Given the description of an element on the screen output the (x, y) to click on. 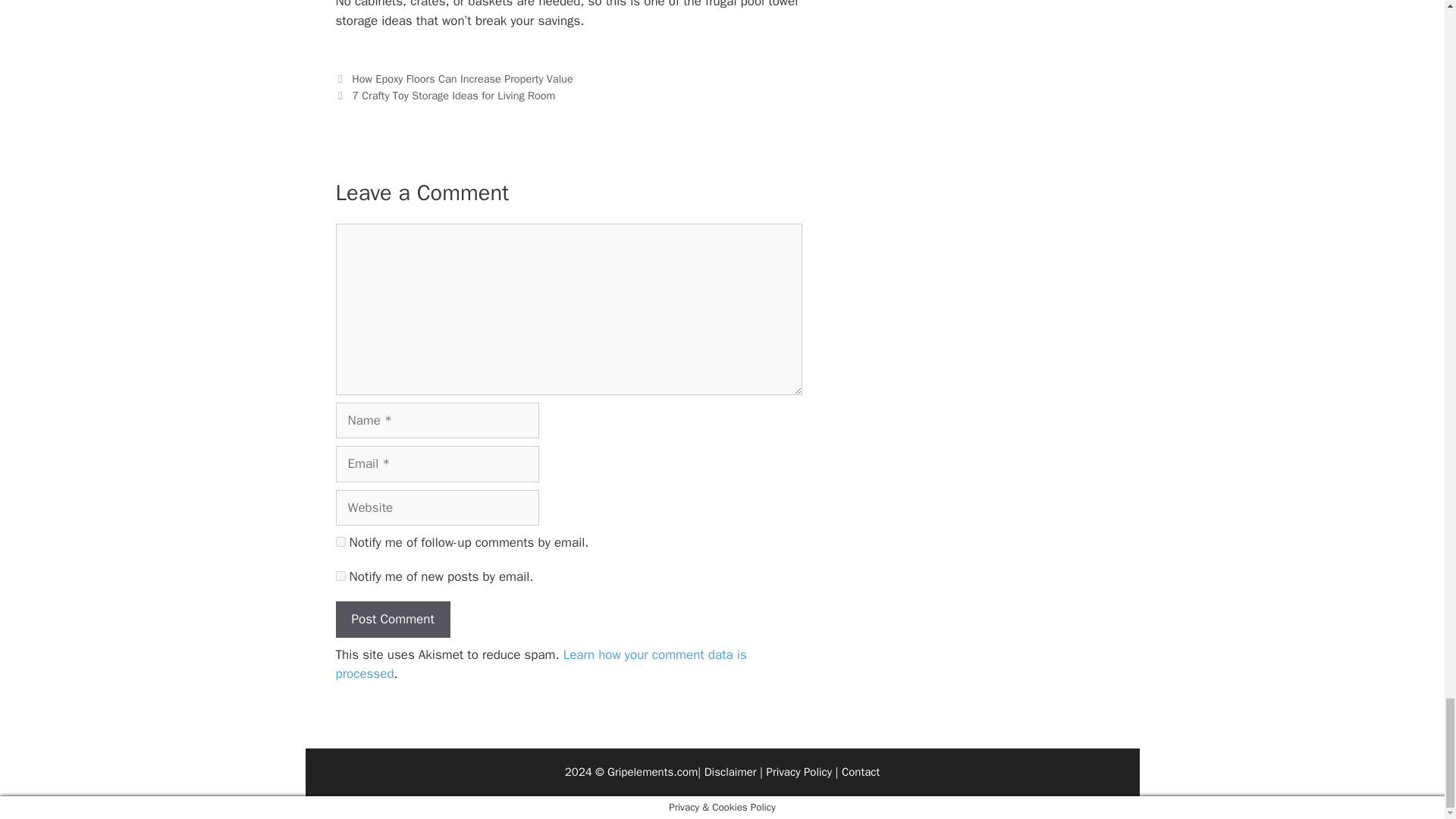
Disclaimer (730, 771)
subscribe (339, 542)
7 Crafty Toy Storage Ideas for Living Room (453, 95)
Post Comment (391, 619)
Post Comment (391, 619)
Learn how your comment data is processed (539, 664)
How Epoxy Floors Can Increase Property Value (462, 78)
Privacy Policy (798, 771)
Contact (860, 771)
subscribe (339, 575)
